Given the description of an element on the screen output the (x, y) to click on. 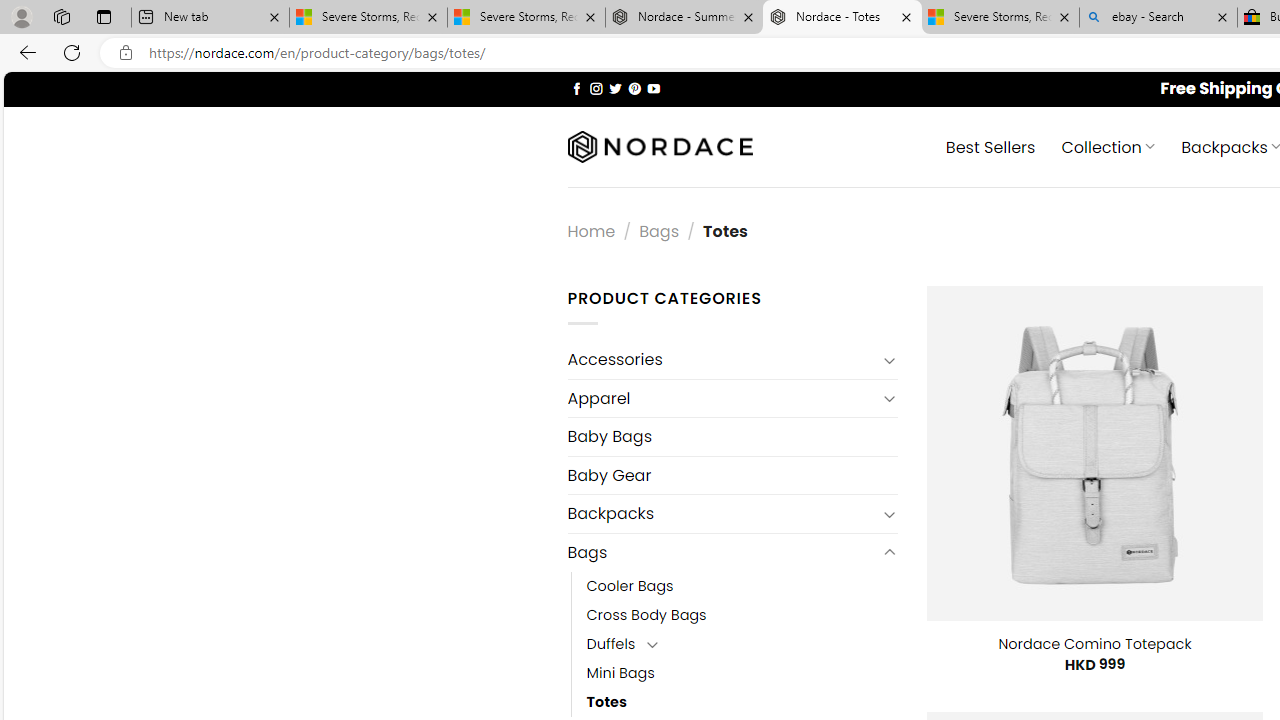
Apparel (721, 398)
  Best Sellers (989, 146)
Totes (606, 701)
Follow on Facebook (576, 88)
Mini Bags (620, 673)
Baby Bags (732, 436)
Bags (721, 552)
Totes (742, 701)
